Given the description of an element on the screen output the (x, y) to click on. 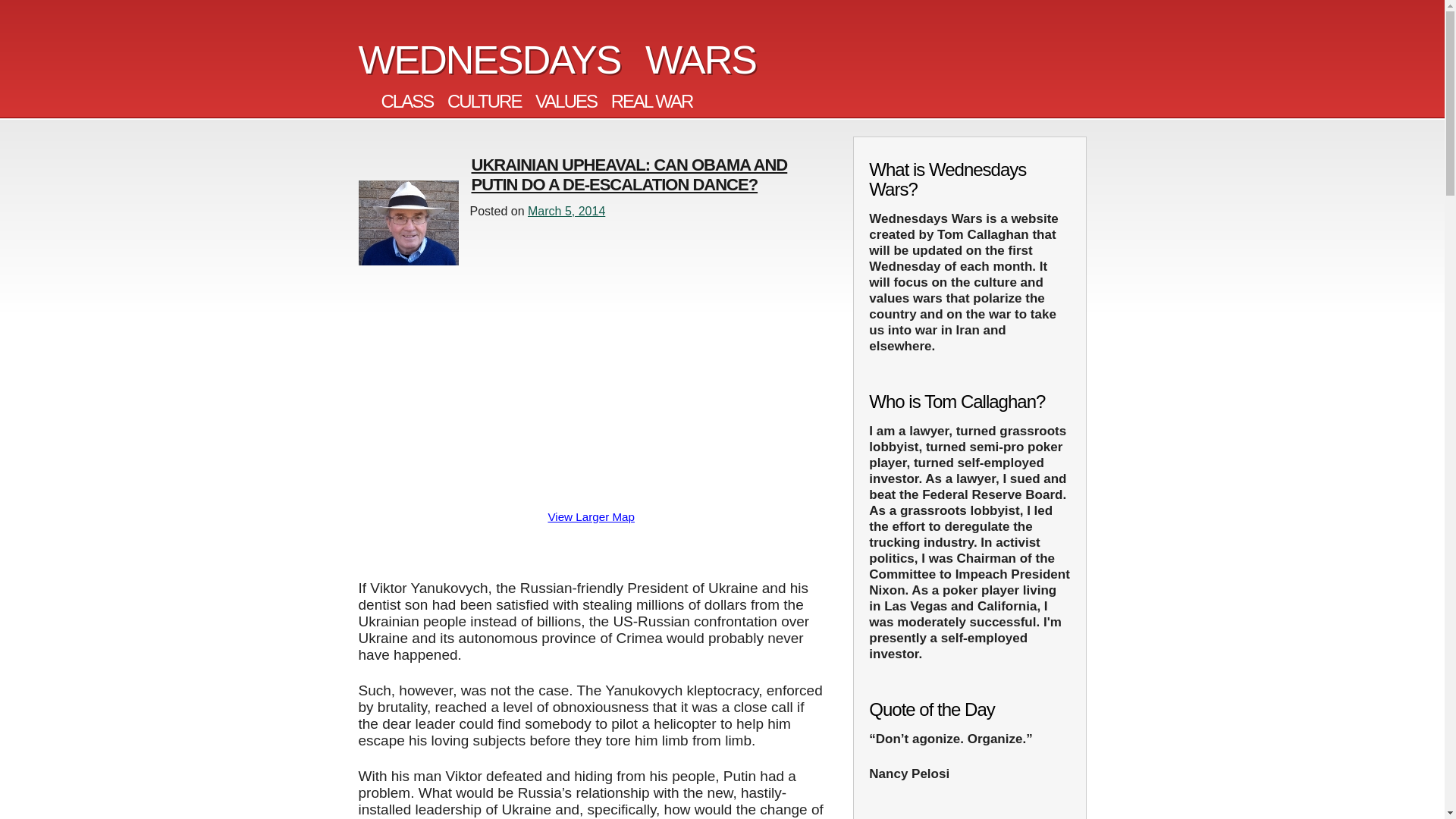
WEDNESDAYS WARS (556, 59)
March 5, 2014 (566, 210)
View Larger Map (590, 516)
